Given the description of an element on the screen output the (x, y) to click on. 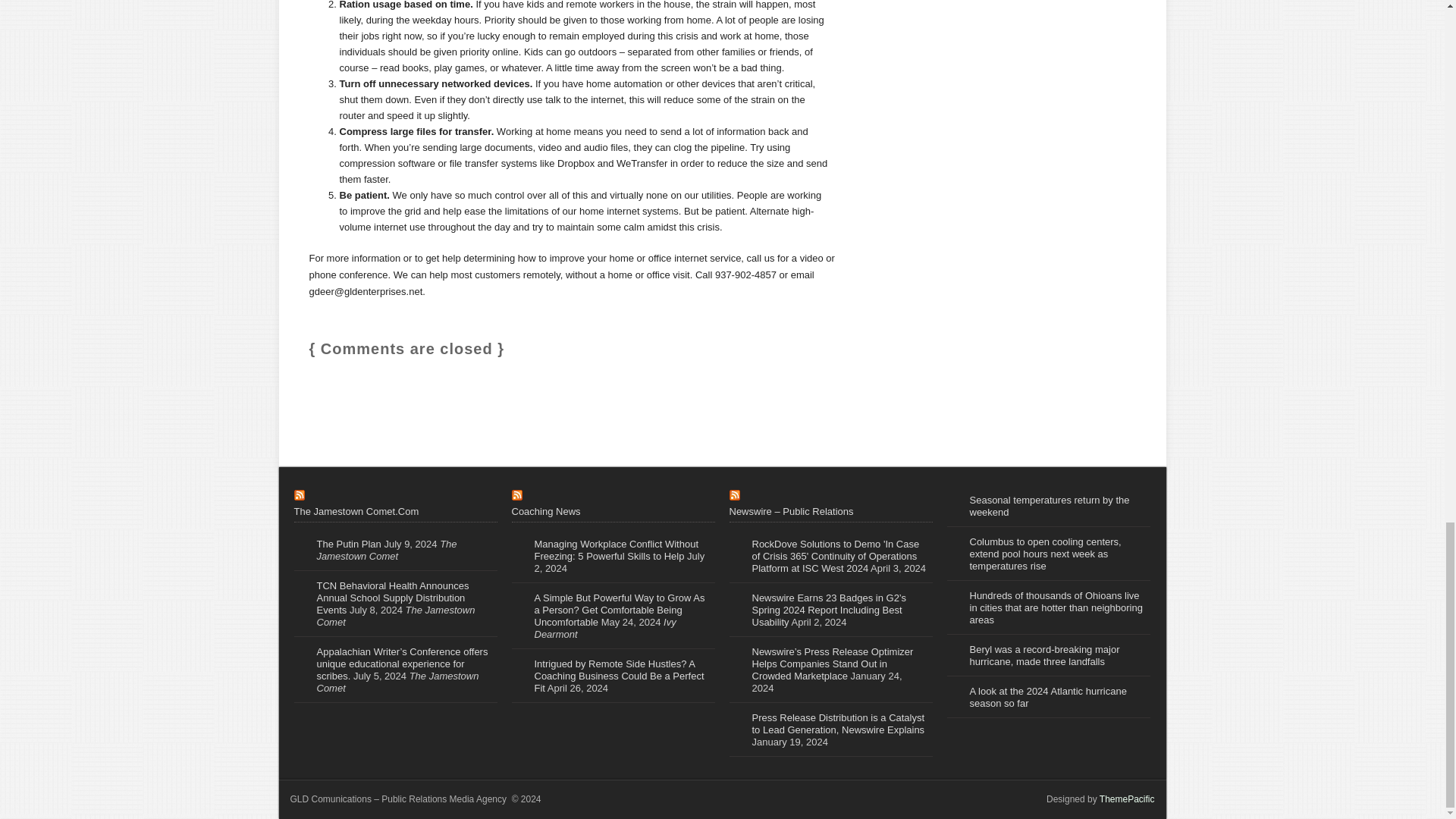
The Jamestown Comet.Com (356, 511)
ThemePacific (1126, 798)
Coaching News (545, 511)
The Putin Plan (349, 543)
